Given the description of an element on the screen output the (x, y) to click on. 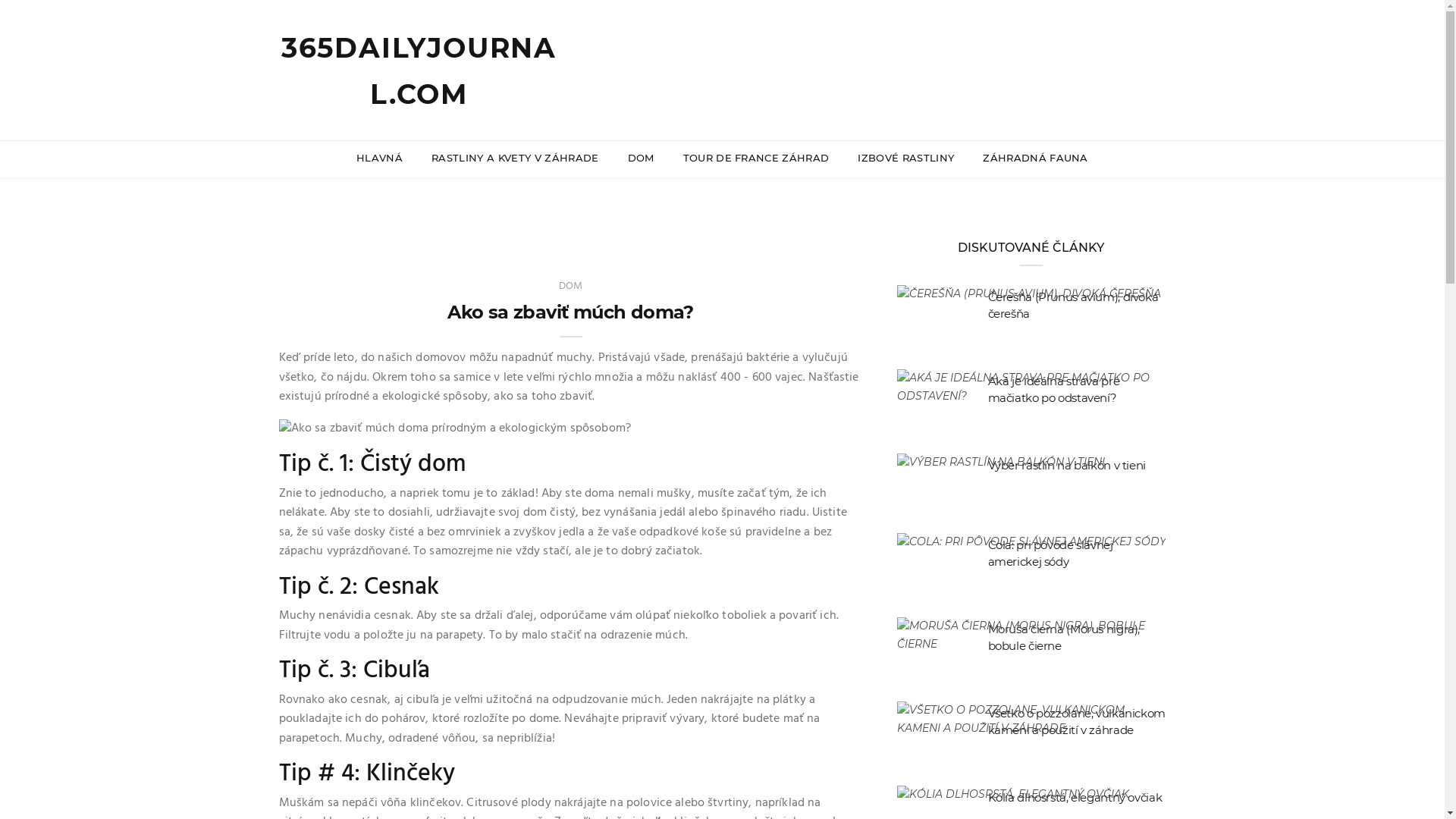
365DAILYJOURNAL.COM Element type: text (418, 70)
DOM Element type: text (570, 285)
DOM Element type: text (640, 158)
